Given the description of an element on the screen output the (x, y) to click on. 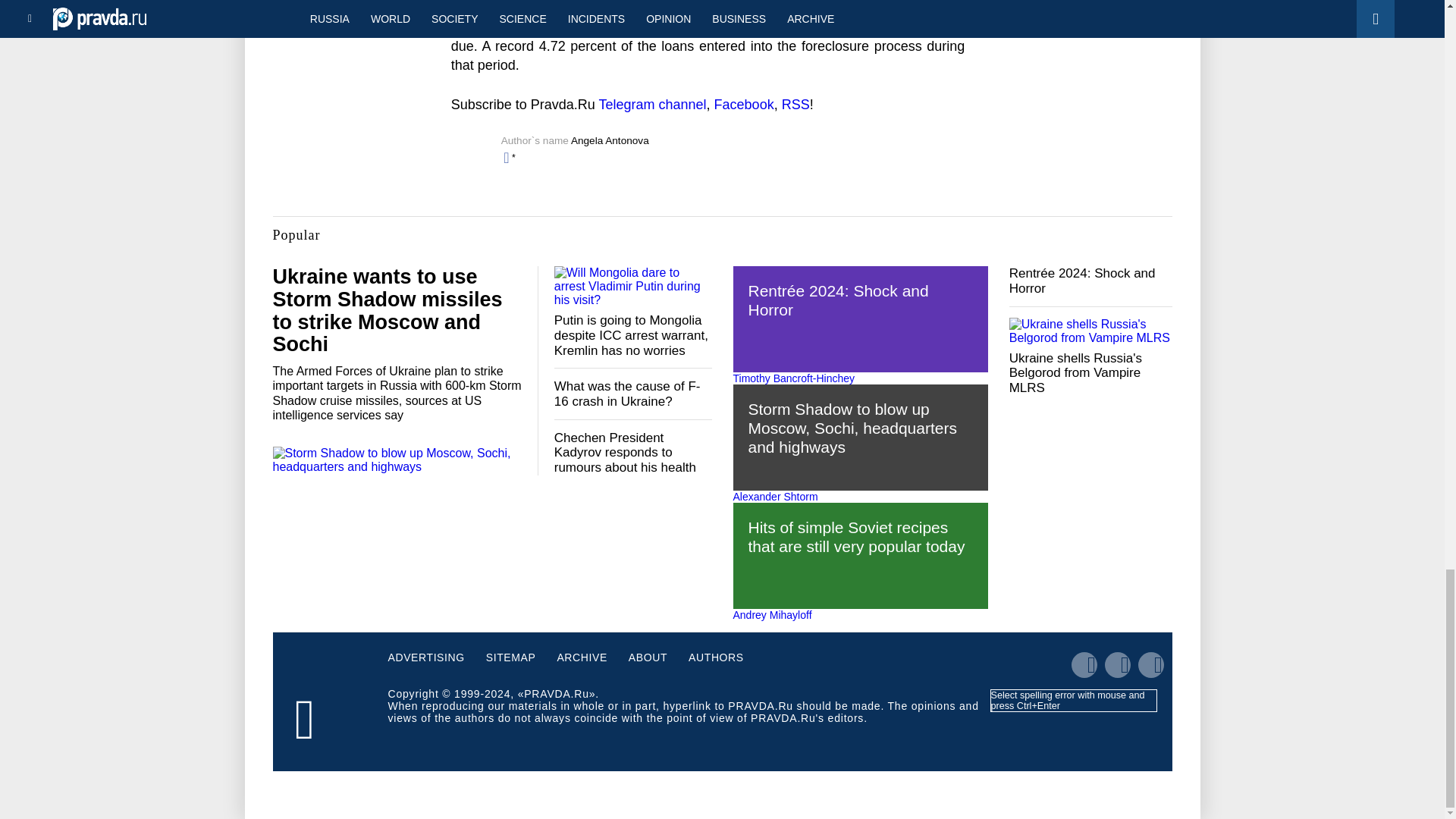
Facebook (744, 104)
RSS (795, 104)
Angela Antonova (609, 140)
Telegram channel (652, 104)
